Given the description of an element on the screen output the (x, y) to click on. 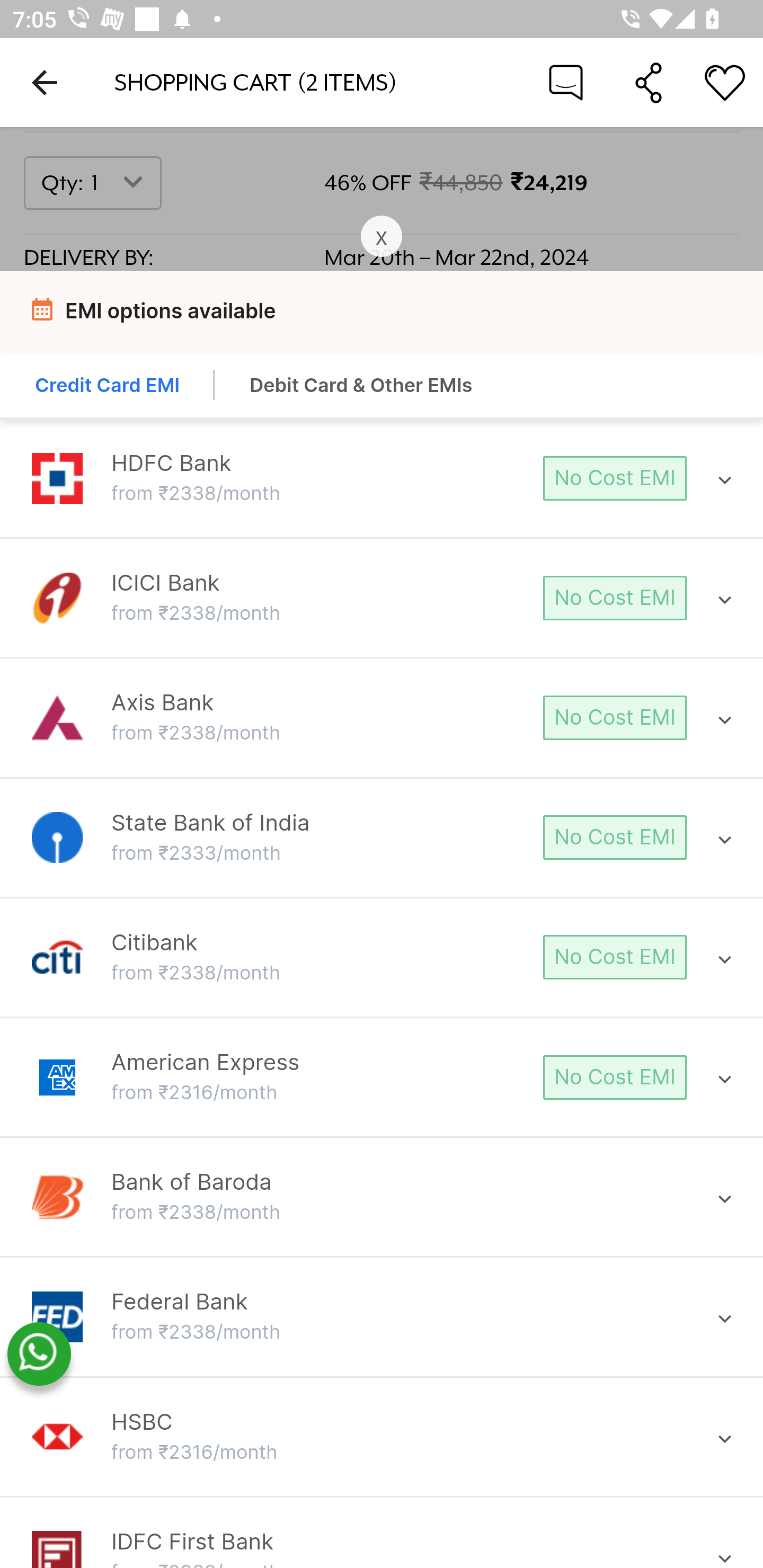
Navigate up (44, 82)
Chat (565, 81)
Share Cart (648, 81)
Wishlist (724, 81)
x (381, 237)
Credit Card EMI (107, 386)
Debit Card & Other EMIs (361, 386)
HDFC Bank HDFC Bank from ₹2338/month No Cost EMI (381, 478)
ICICI Bank ICICI Bank from ₹2338/month No Cost EMI (381, 597)
Axis Bank Axis Bank from ₹2338/month No Cost EMI (381, 717)
Citibank Citibank from ₹2338/month No Cost EMI (381, 956)
Bank of Baroda Bank of Baroda from ₹2338/month (381, 1196)
Federal Bank Federal Bank from ₹2338/month (381, 1316)
whatsapp (38, 1354)
HSBC HSBC from ₹2316/month (381, 1436)
IDFC First Bank IDFC First Bank from ₹2338/month (381, 1548)
